Given the description of an element on the screen output the (x, y) to click on. 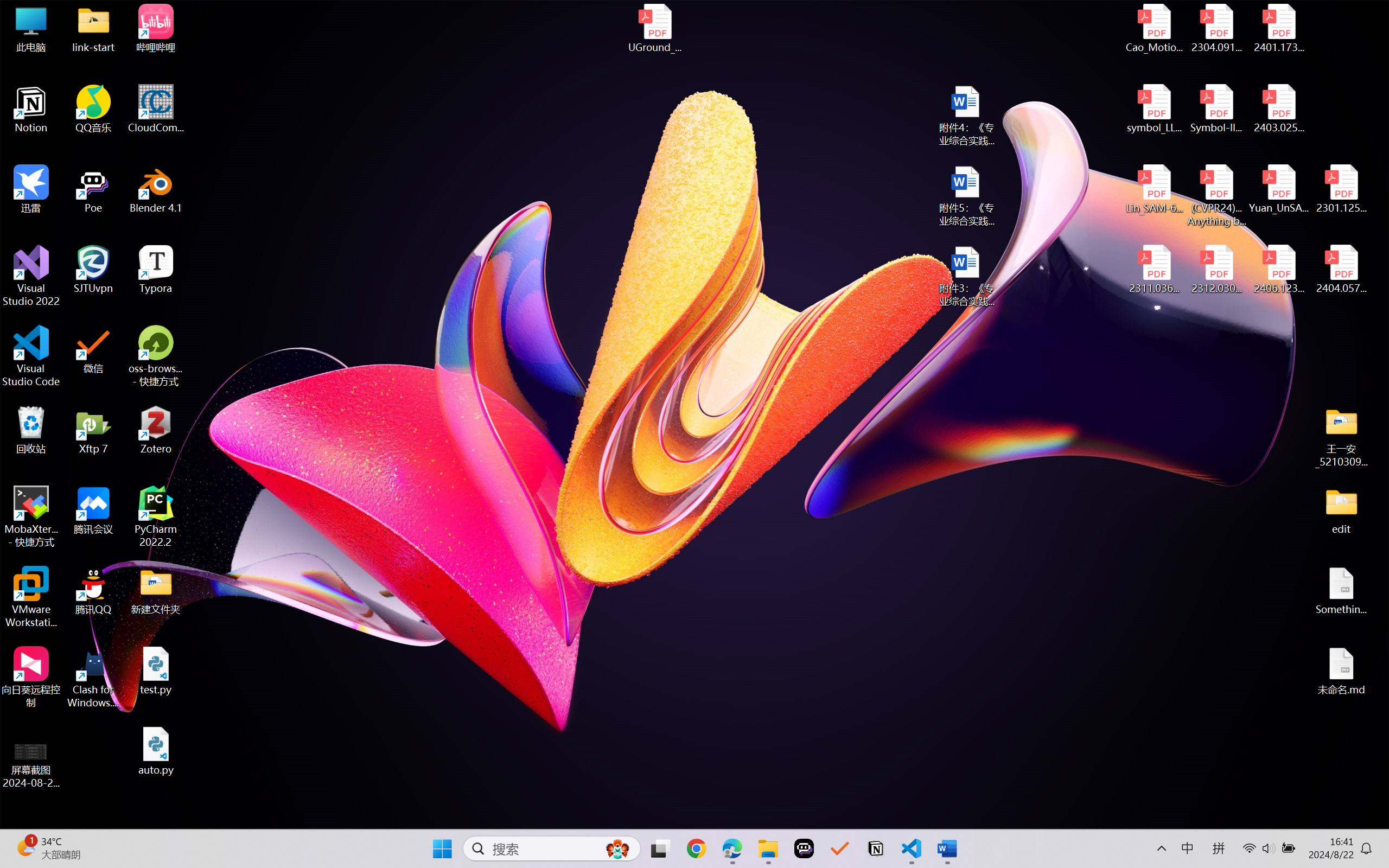
VMware Workstation Pro (31, 597)
PyCharm 2022.2 (156, 516)
CloudCompare (156, 109)
test.py (156, 670)
(CVPR24)Matching Anything by Segmenting Anything.pdf (1216, 195)
Typora (156, 269)
Xftp 7 (93, 430)
2403.02502v1.pdf (1278, 109)
Symbol-llm-v2.pdf (1216, 109)
auto.py (156, 751)
